Given the description of an element on the screen output the (x, y) to click on. 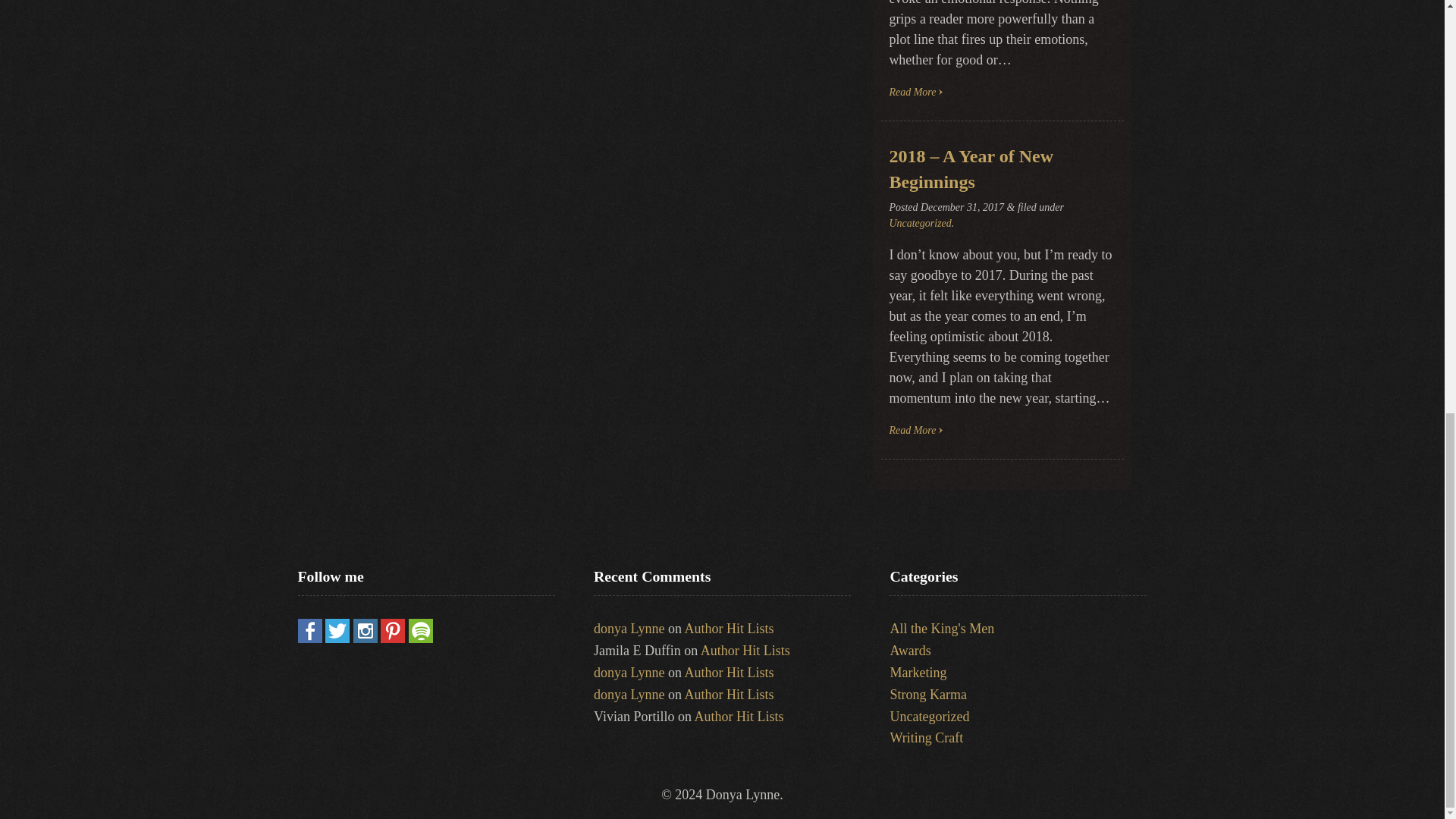
Pinterest (392, 638)
Facebook (309, 638)
Instagram (365, 638)
Twitter (336, 638)
Spotify (419, 638)
